Given the description of an element on the screen output the (x, y) to click on. 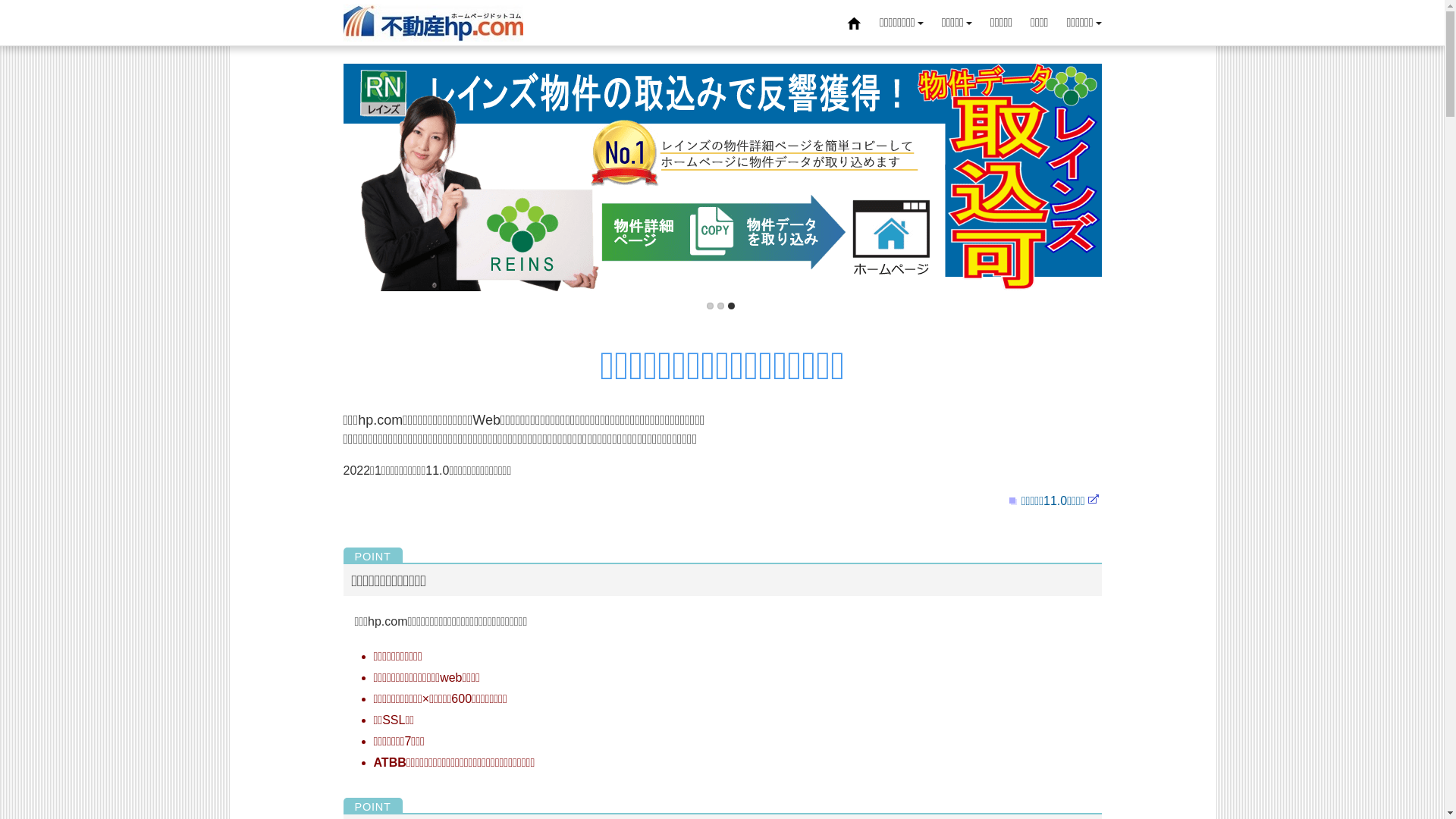
2 Element type: text (720, 305)
1 Element type: text (709, 305)
3 Element type: text (731, 305)
